Given the description of an element on the screen output the (x, y) to click on. 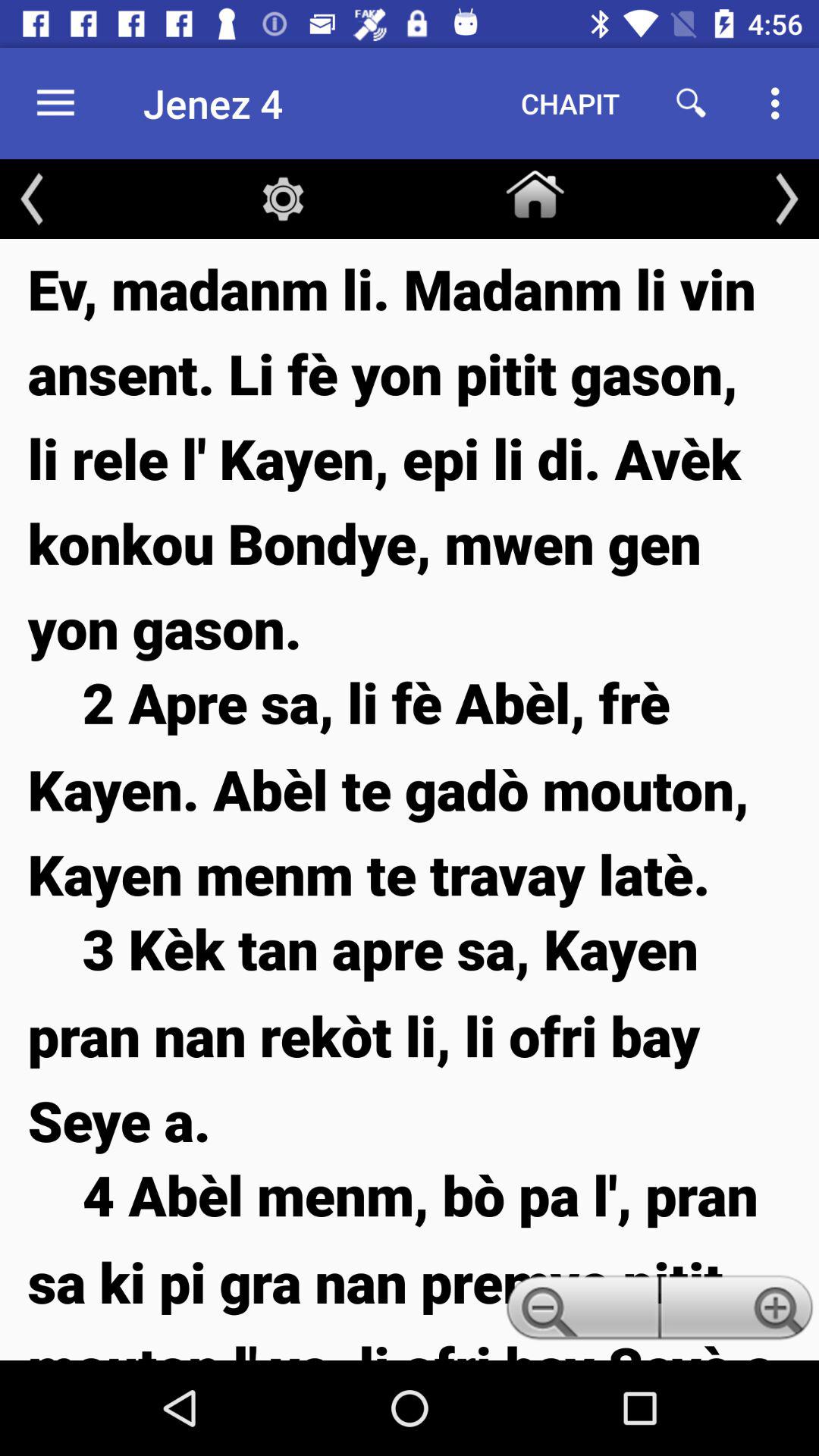
select item below 2 apre sa item (409, 1034)
